Given the description of an element on the screen output the (x, y) to click on. 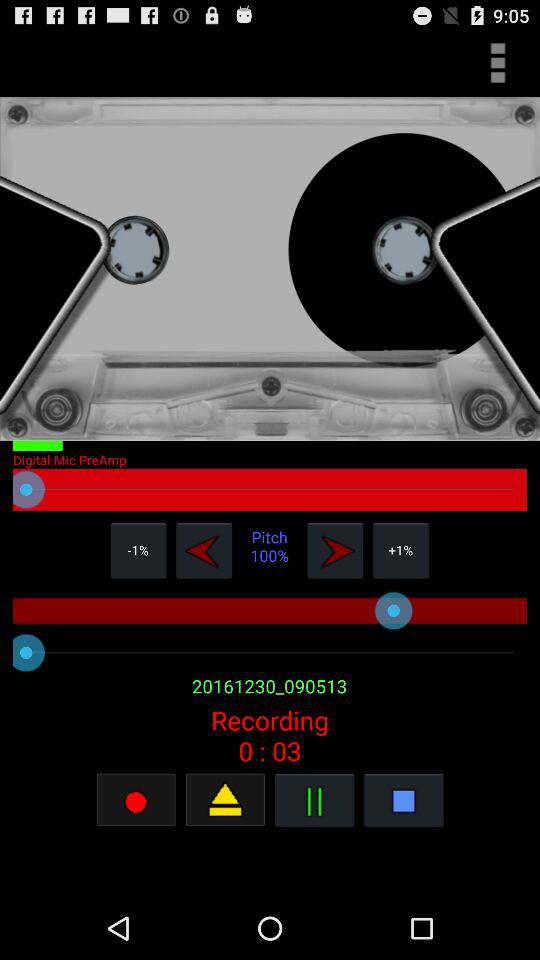
go next (335, 550)
